Given the description of an element on the screen output the (x, y) to click on. 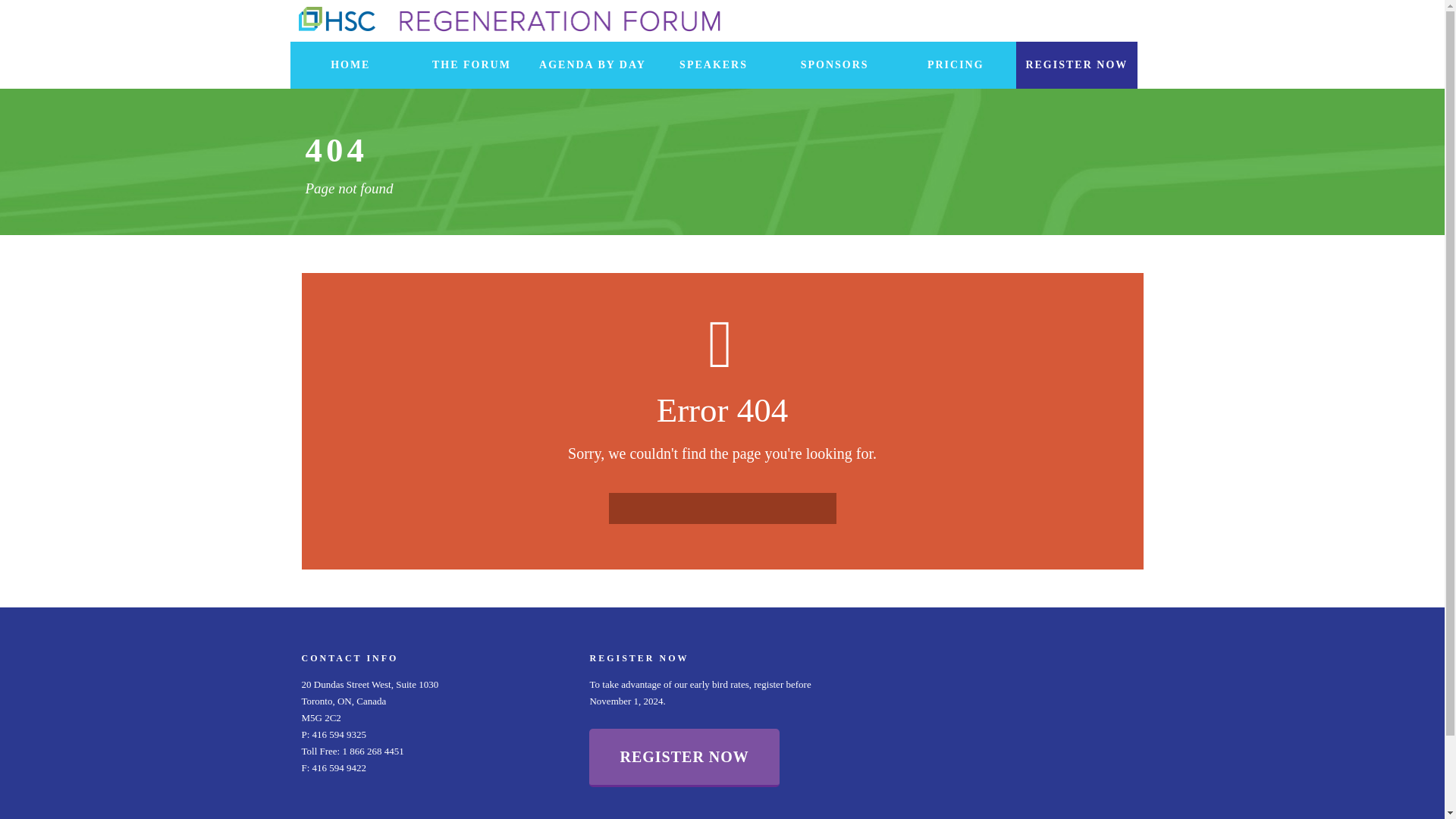
SPEAKERS (713, 64)
AGENDA BY DAY (592, 64)
PRICING (955, 64)
HOME (349, 64)
REGISTER NOW (1076, 64)
THE FORUM (471, 64)
REGISTER NOW (683, 757)
SPONSORS (834, 64)
